Given the description of an element on the screen output the (x, y) to click on. 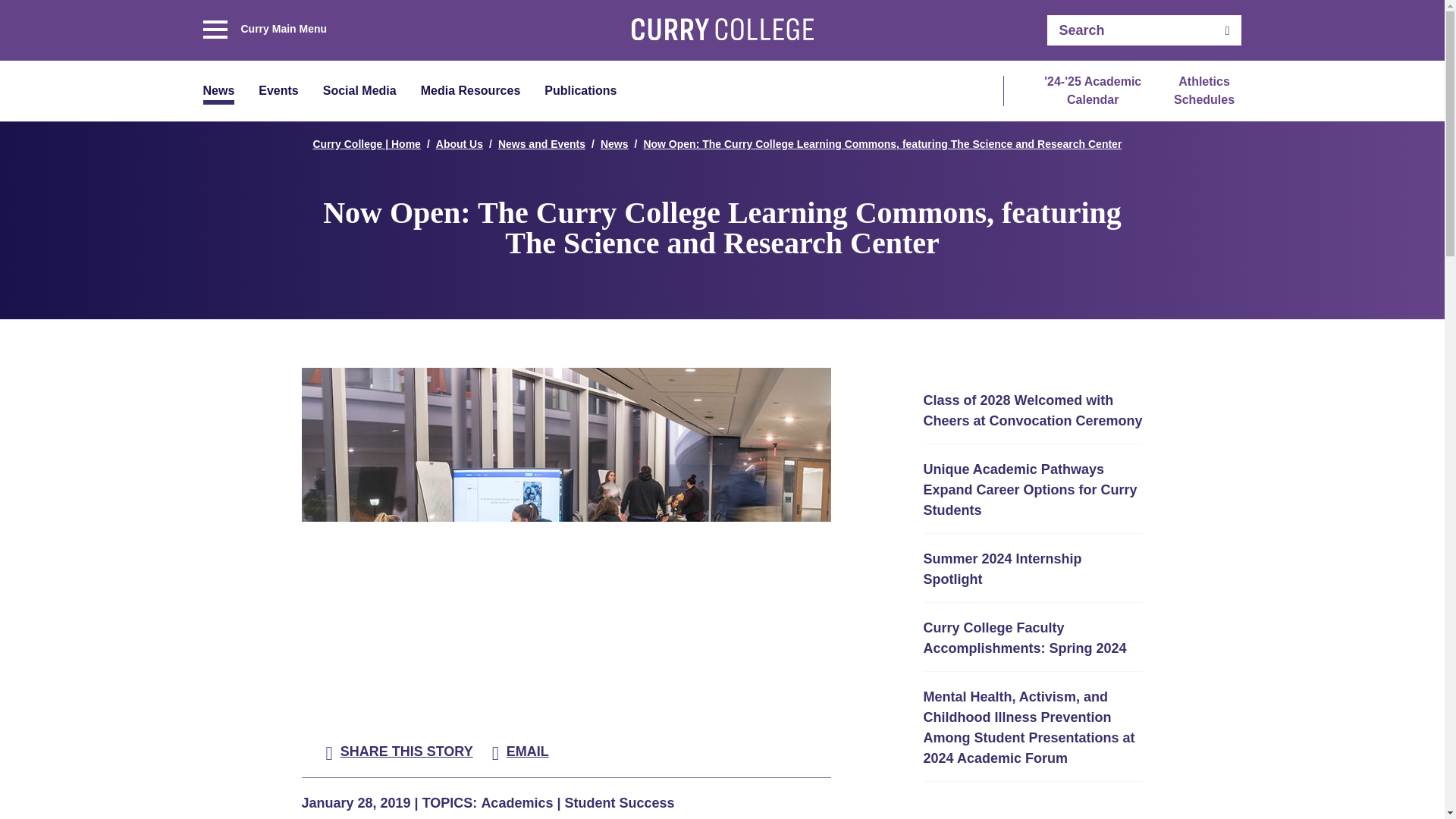
Media Resources (470, 91)
Events (278, 91)
Events (278, 91)
Publications (579, 91)
News (218, 94)
Publications (579, 91)
News (218, 94)
Media Resources (470, 91)
Social Media (359, 91)
Social Media (359, 91)
